Given the description of an element on the screen output the (x, y) to click on. 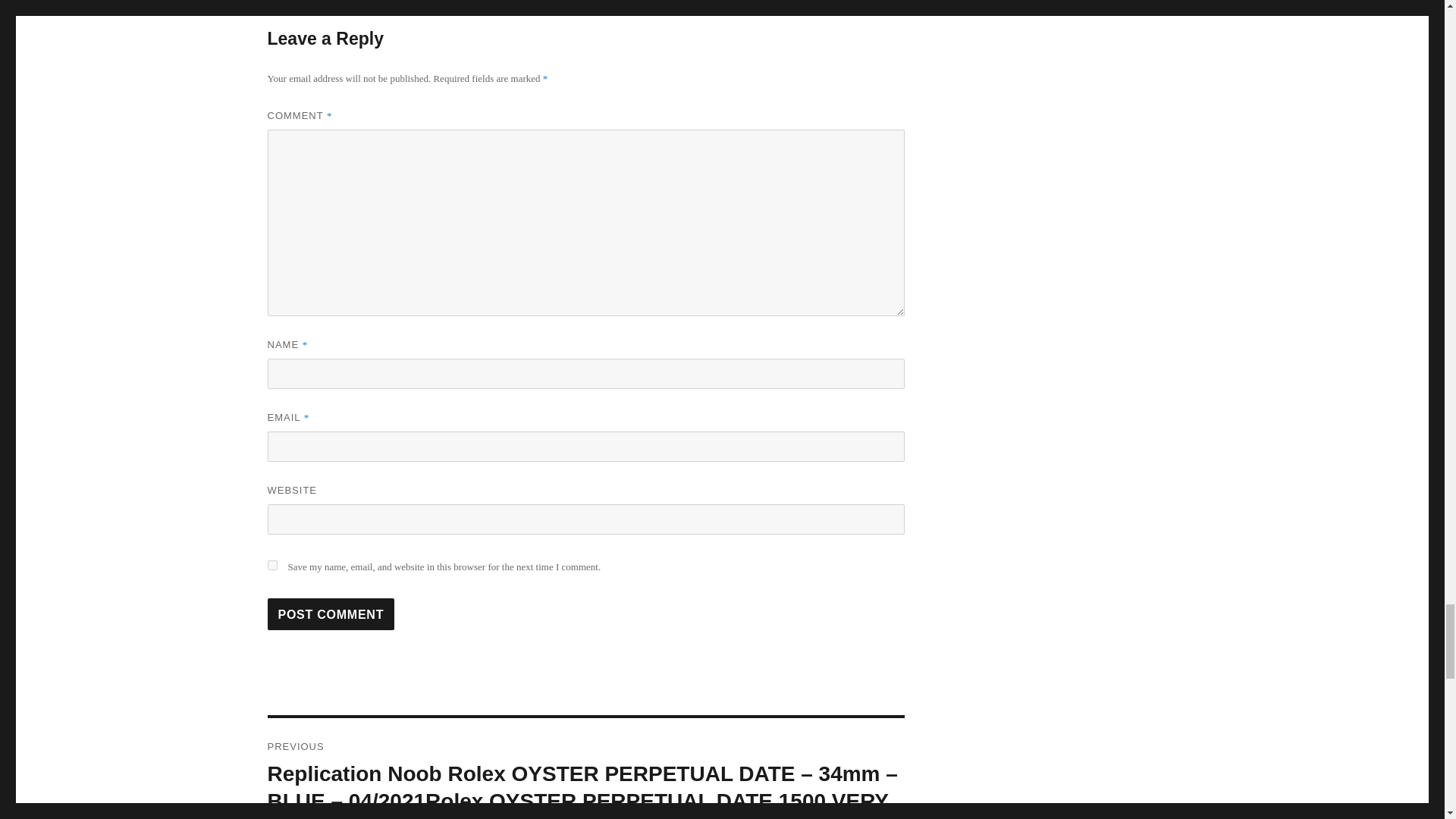
Post Comment (330, 613)
Post Comment (330, 613)
yes (271, 565)
